Given the description of an element on the screen output the (x, y) to click on. 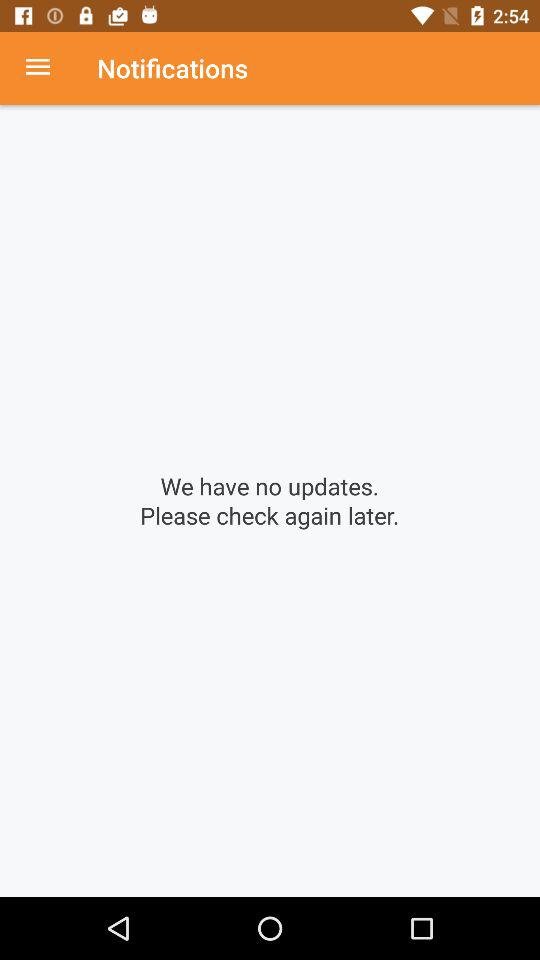
select item at the top left corner (48, 67)
